Given the description of an element on the screen output the (x, y) to click on. 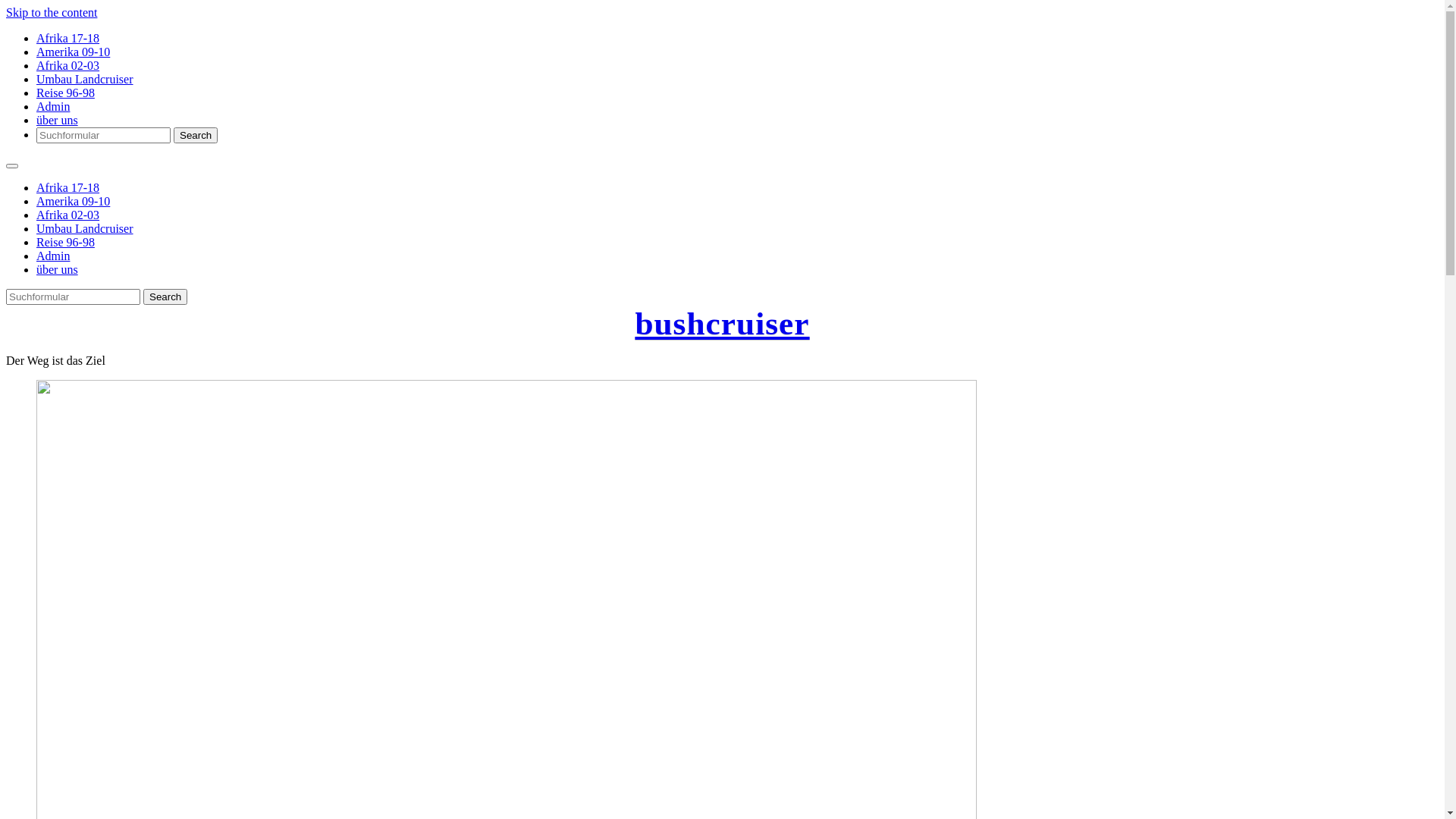
bushcruiser Element type: text (721, 323)
Afrika 02-03 Element type: text (67, 65)
Reise 96-98 Element type: text (65, 92)
Umbau Landcruiser Element type: text (84, 78)
Umbau Landcruiser Element type: text (84, 228)
Afrika 17-18 Element type: text (67, 37)
Admin Element type: text (52, 106)
Afrika 02-03 Element type: text (67, 214)
Afrika 17-18 Element type: text (67, 187)
Search Element type: text (195, 135)
Reise 96-98 Element type: text (65, 241)
Amerika 09-10 Element type: text (72, 51)
Amerika 09-10 Element type: text (72, 200)
Search Element type: text (165, 296)
Admin Element type: text (52, 255)
Skip to the content Element type: text (51, 12)
